Given the description of an element on the screen output the (x, y) to click on. 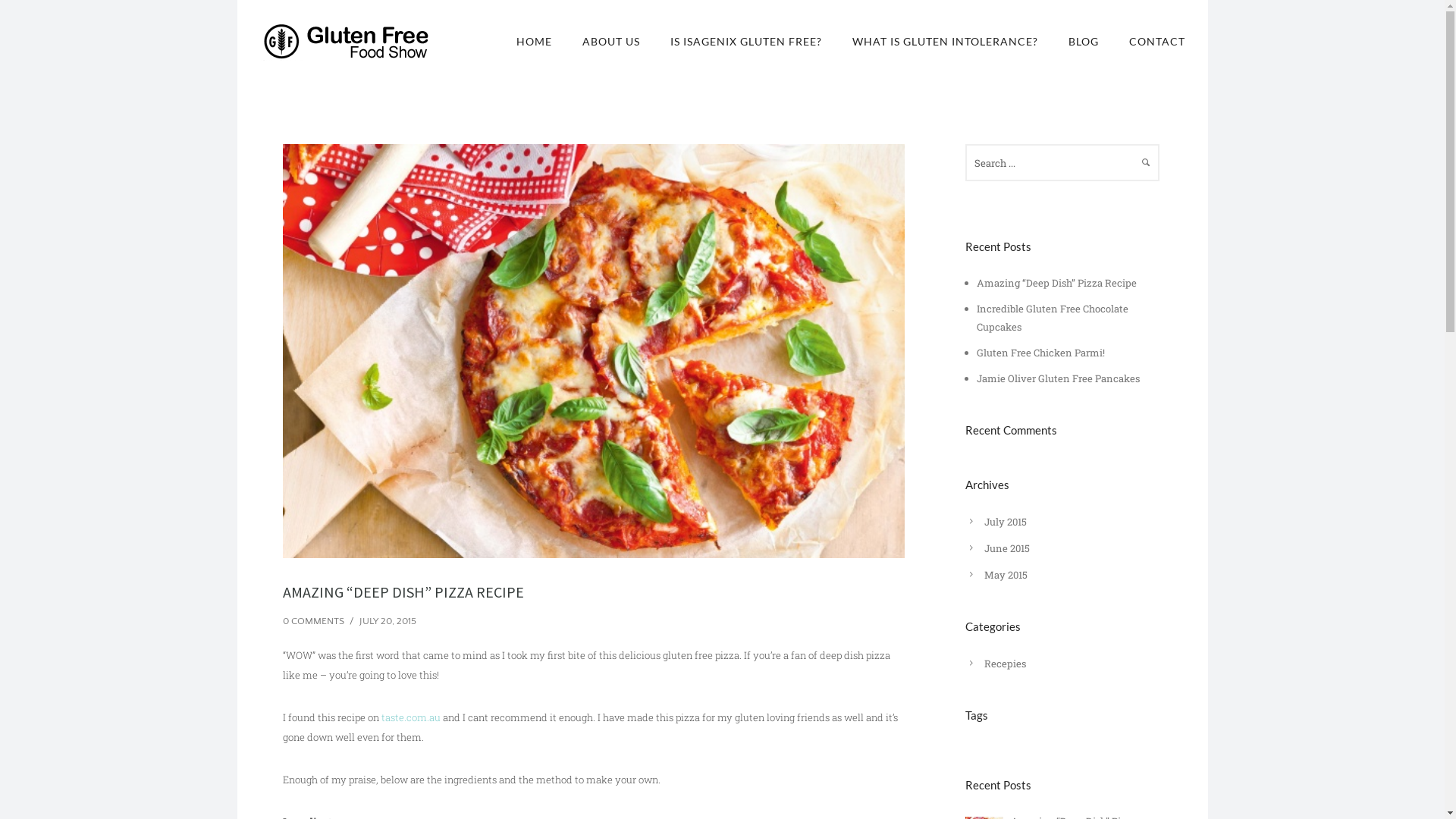
Jamie Oliver Gluten Free Pancakes Element type: text (1057, 378)
Incredible Gluten Free Chocolate Cupcakes Element type: text (1052, 317)
IS ISAGENIX GLUTEN FREE? Element type: text (746, 40)
HOME Element type: text (533, 40)
ABOUT US Element type: text (611, 40)
May 2015 Element type: text (1005, 574)
0 COMMENTS Element type: text (312, 620)
WHAT IS GLUTEN INTOLERANCE? Element type: text (945, 40)
BLOG Element type: text (1082, 40)
Gluten Free Chicken Parmi! Element type: text (1040, 352)
Recepies Element type: text (1005, 663)
CONTACT Element type: text (1148, 40)
July 2015 Element type: text (1005, 521)
taste.com.au Element type: text (409, 717)
June 2015 Element type: text (1006, 548)
